Given the description of an element on the screen output the (x, y) to click on. 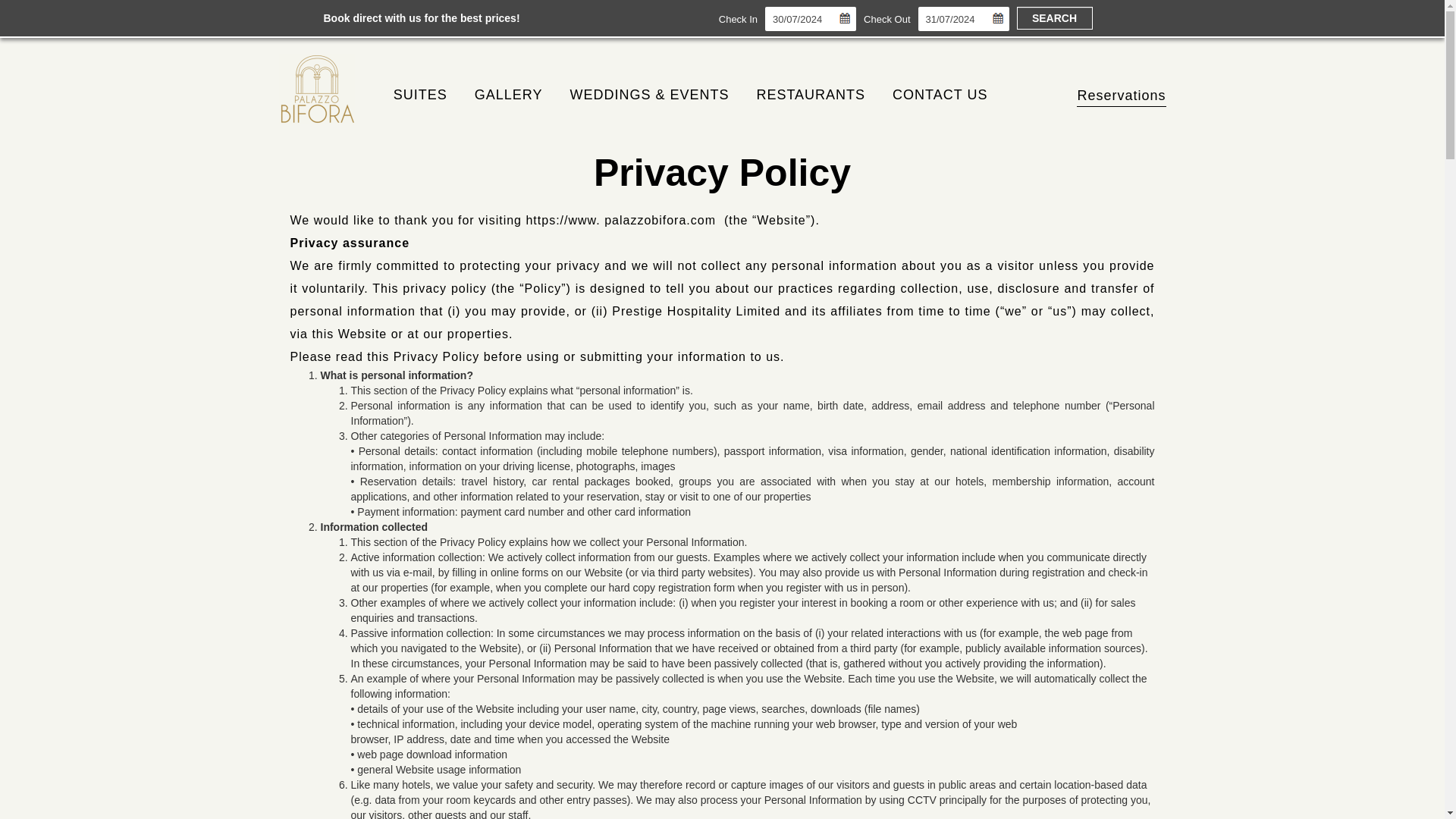
Reservations (1121, 97)
Check In (738, 18)
SUITES (420, 94)
SEARCH (1054, 17)
RESTAURANTS (810, 94)
GALLERY (508, 94)
Check Out (886, 18)
CONTACT US (940, 94)
